Given the description of an element on the screen output the (x, y) to click on. 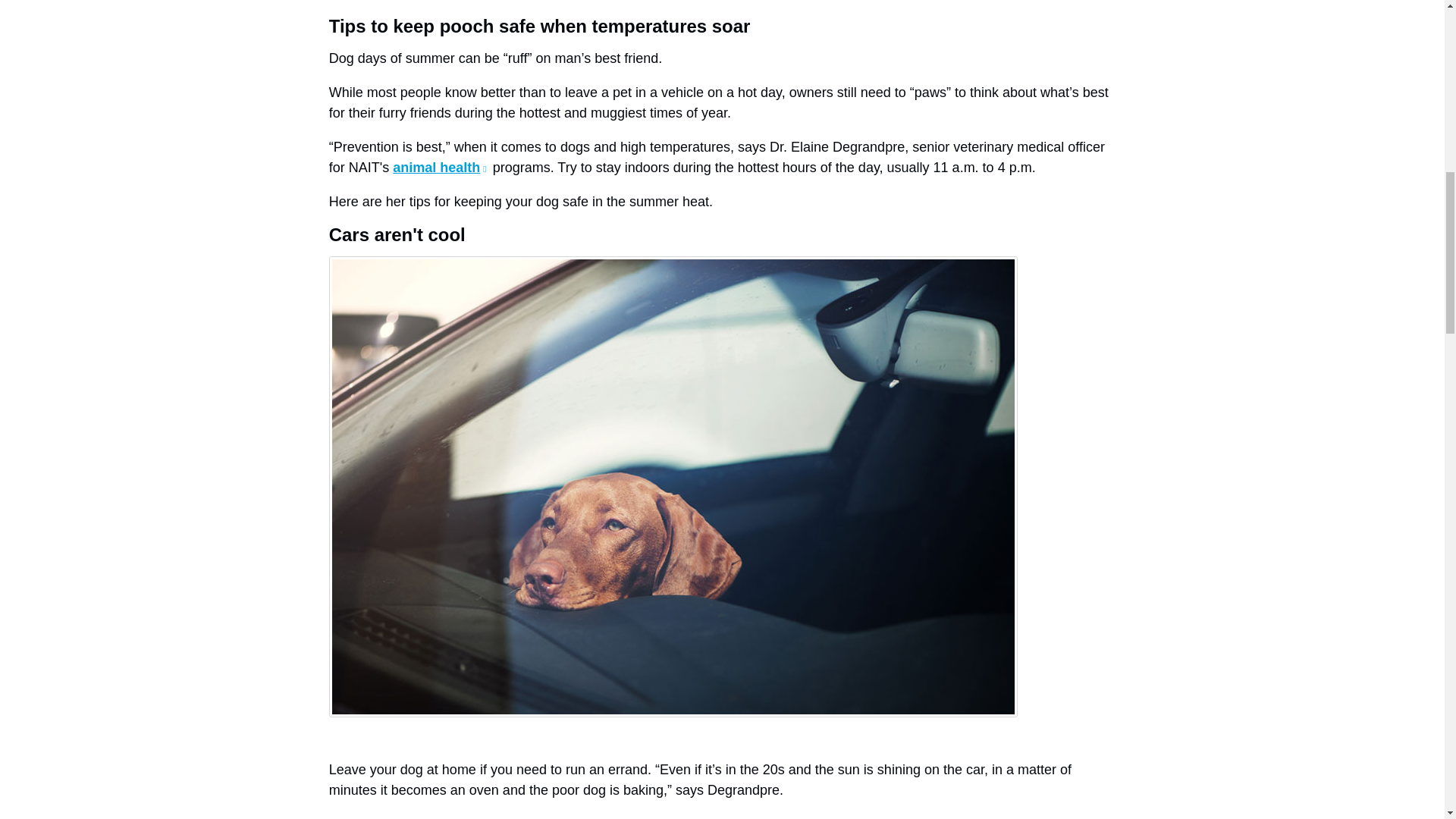
animal health (440, 167)
